Given the description of an element on the screen output the (x, y) to click on. 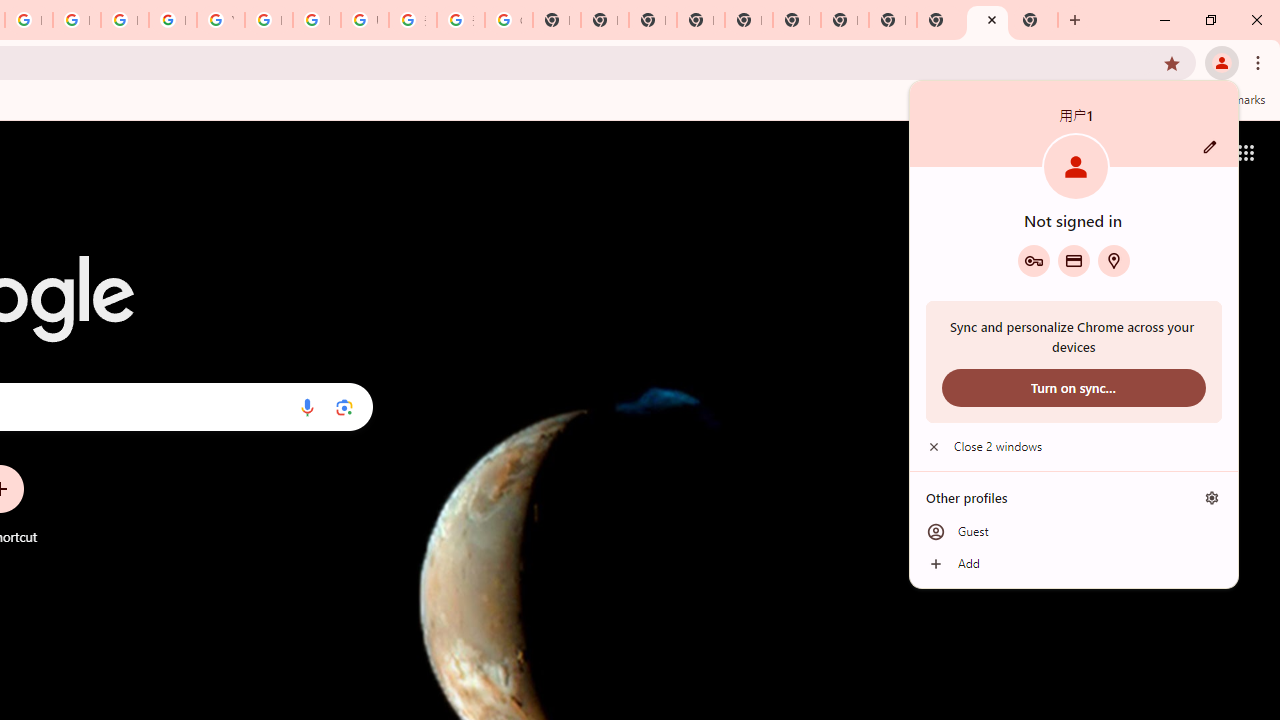
New Tab (700, 20)
Google Images (508, 20)
Close 2 windows (1073, 446)
Search by image (344, 407)
Guest (1073, 531)
Minimize (1165, 20)
Search by voice (307, 407)
Manage profiles (1211, 498)
New Tab (1034, 20)
Add (1073, 563)
